Given the description of an element on the screen output the (x, y) to click on. 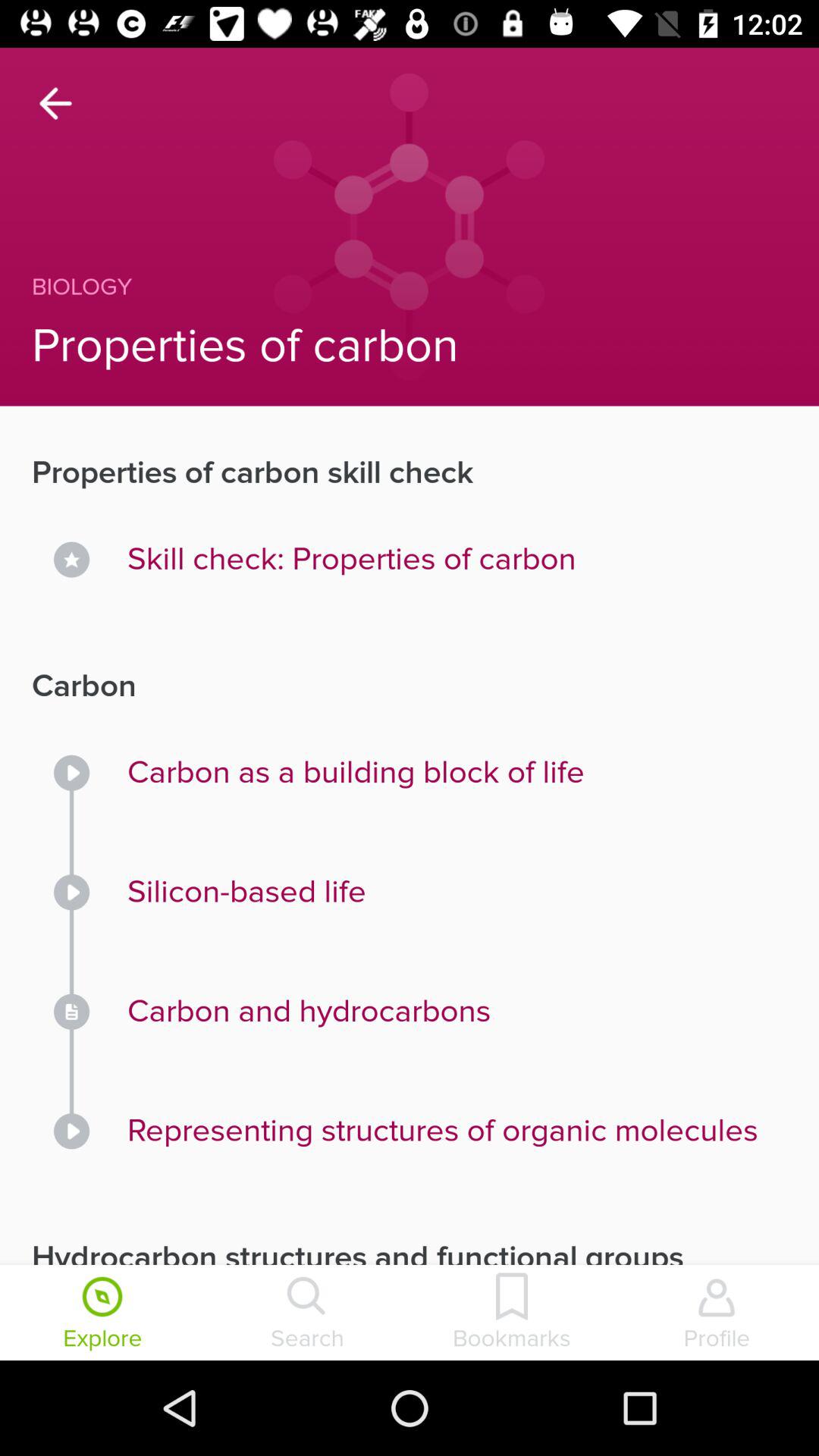
turn off icon to the left of search (102, 1314)
